Given the description of an element on the screen output the (x, y) to click on. 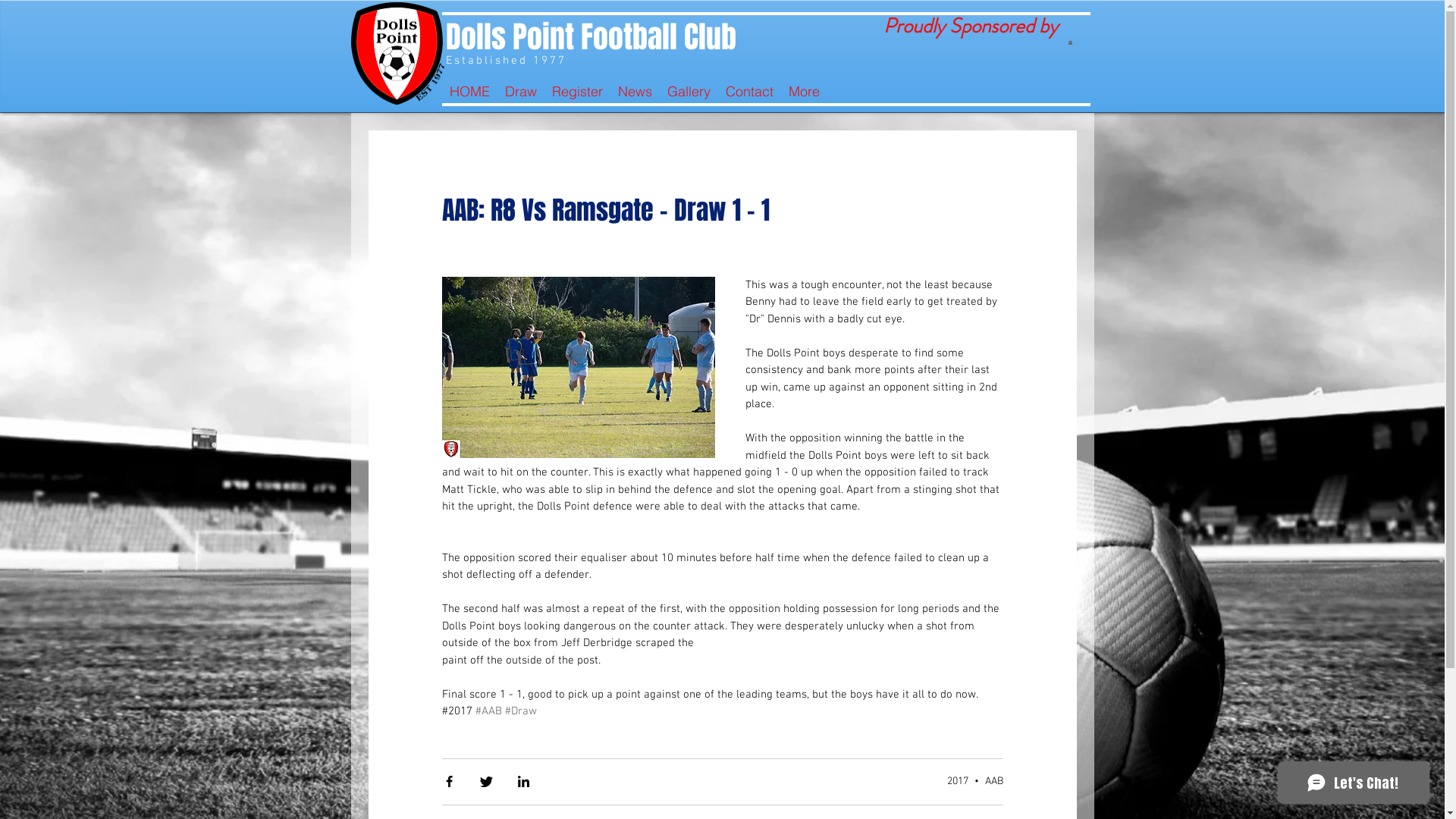
2017 Element type: text (956, 781)
#Draw Element type: text (520, 711)
AAB Element type: text (993, 781)
0 Element type: text (1069, 42)
Dolls Point Football Club Element type: text (590, 36)
Draw Element type: text (520, 91)
Register Element type: text (577, 91)
Contact Element type: text (748, 91)
HOME Element type: text (468, 91)
DPFC_40th_1200.png Element type: hover (396, 53)
Gallery Element type: text (688, 91)
#AAB Element type: text (487, 711)
News Element type: text (633, 91)
